Given the description of an element on the screen output the (x, y) to click on. 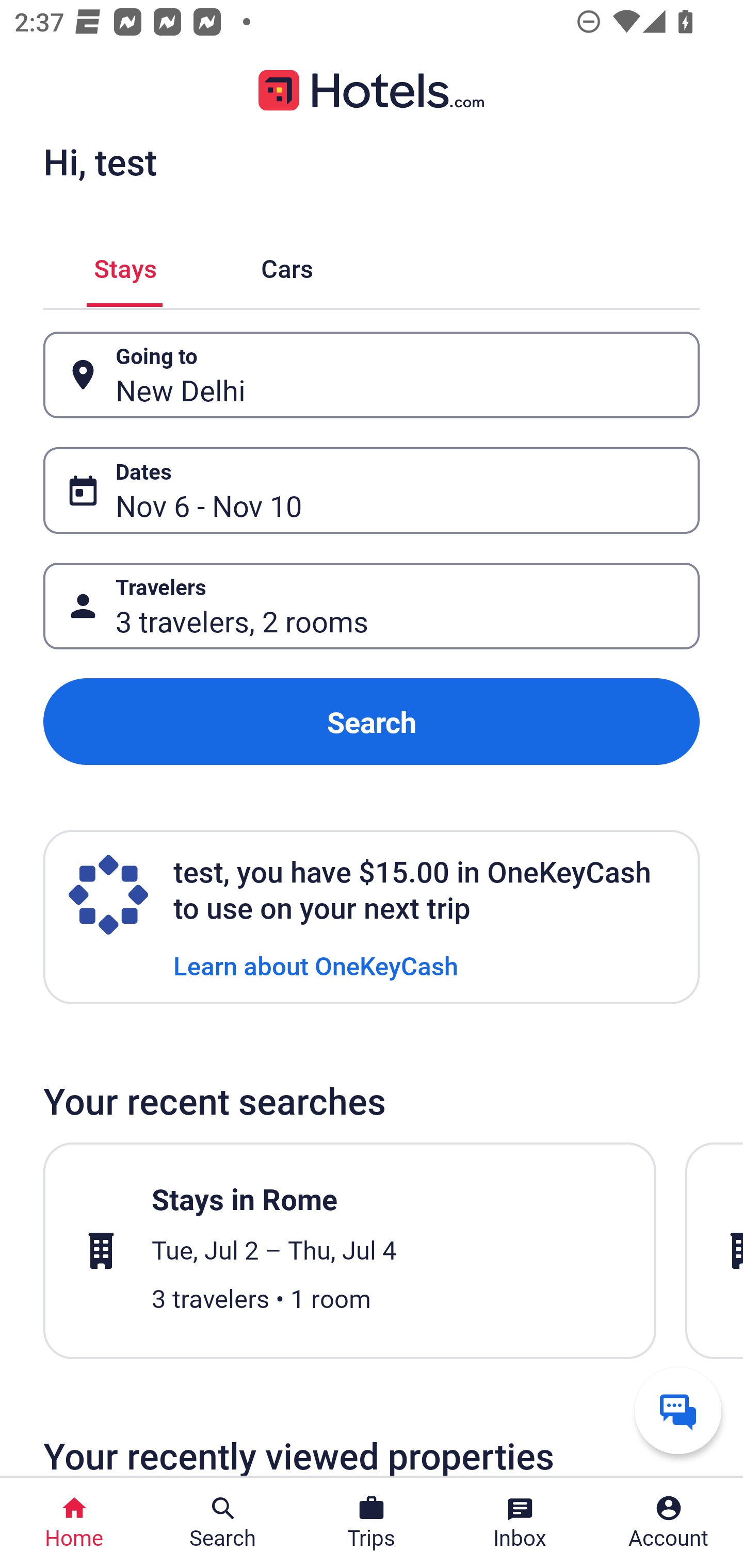
Hi, test (99, 161)
Cars (286, 265)
Going to Button New Delhi (371, 375)
Dates Button Nov 6 - Nov 10 (371, 489)
Travelers Button 3 travelers, 2 rooms (371, 605)
Search (371, 721)
Learn about OneKeyCash Learn about OneKeyCash Link (315, 964)
Get help from a virtual agent (677, 1410)
Search Search Button (222, 1522)
Trips Trips Button (371, 1522)
Inbox Inbox Button (519, 1522)
Account Profile. Button (668, 1522)
